Given the description of an element on the screen output the (x, y) to click on. 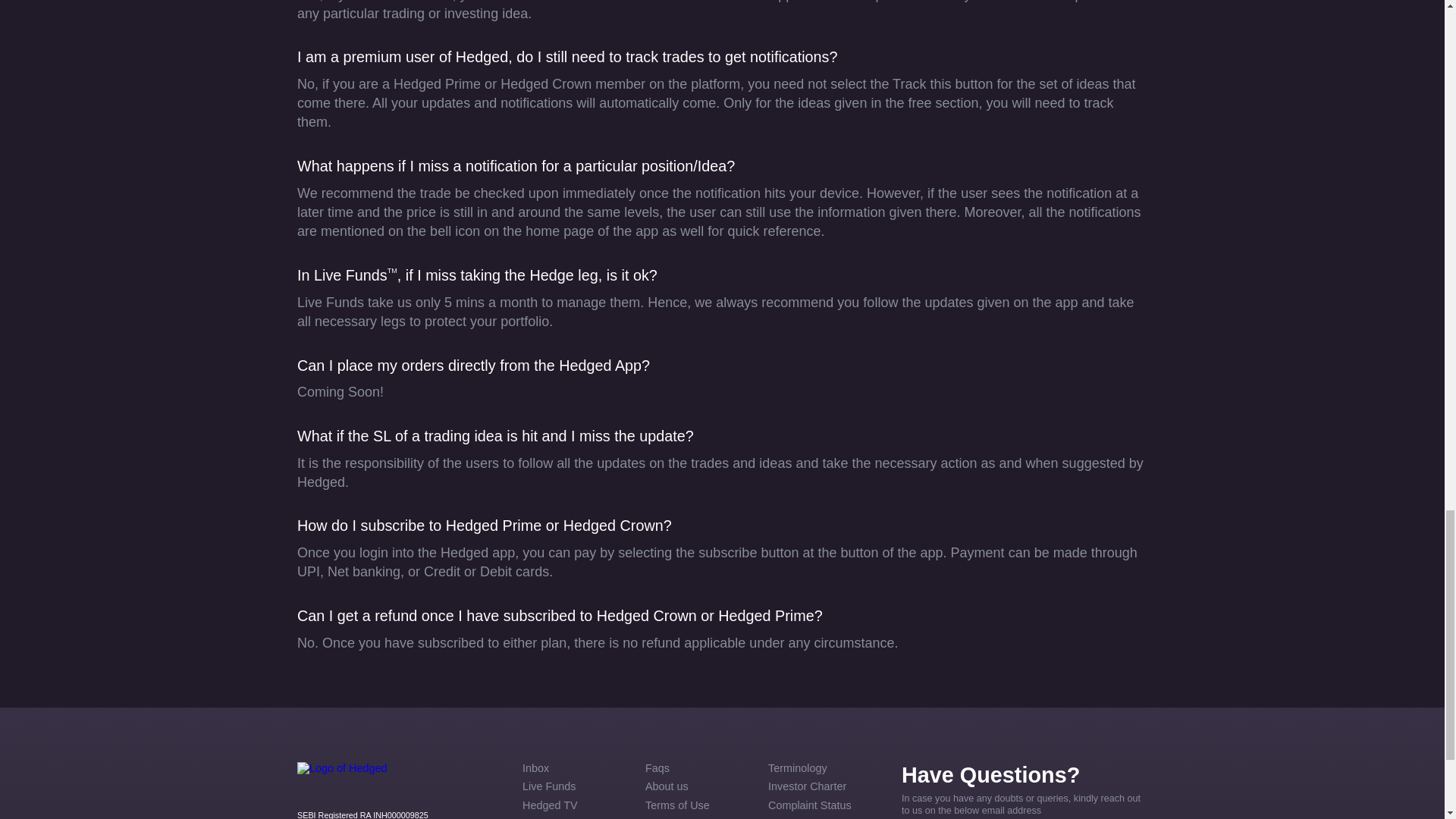
News (576, 818)
Complaint Status (822, 805)
Investor Charter (822, 786)
Inbox (576, 768)
Privacy Policy (699, 818)
Grievance Redressal (822, 818)
About us (699, 786)
Live Funds (576, 786)
Terminology (822, 768)
Faqs (699, 768)
Terms of Use (699, 805)
Hedged TV (576, 805)
